Given the description of an element on the screen output the (x, y) to click on. 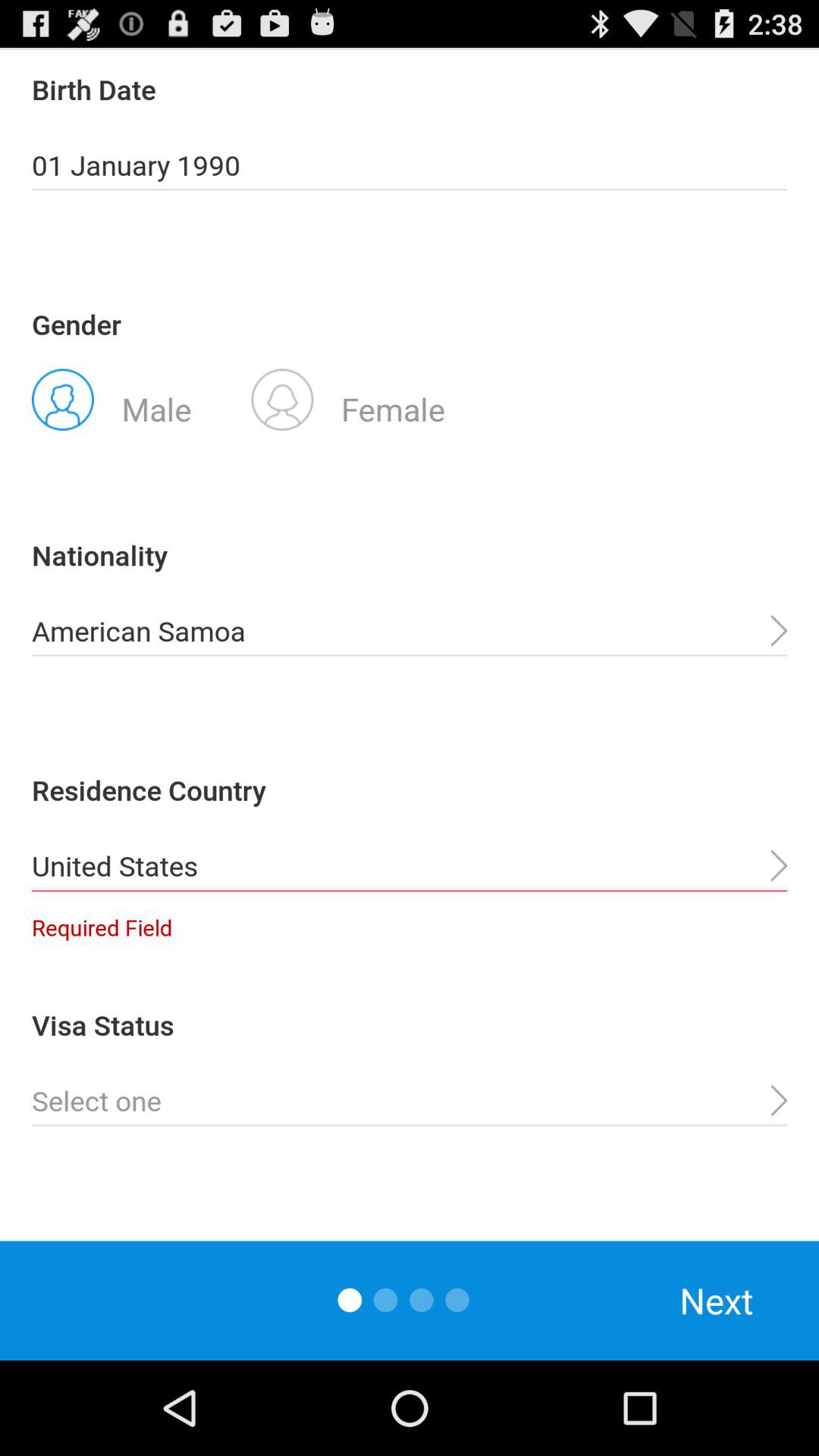
turn off the app above nationality item (111, 398)
